Given the description of an element on the screen output the (x, y) to click on. 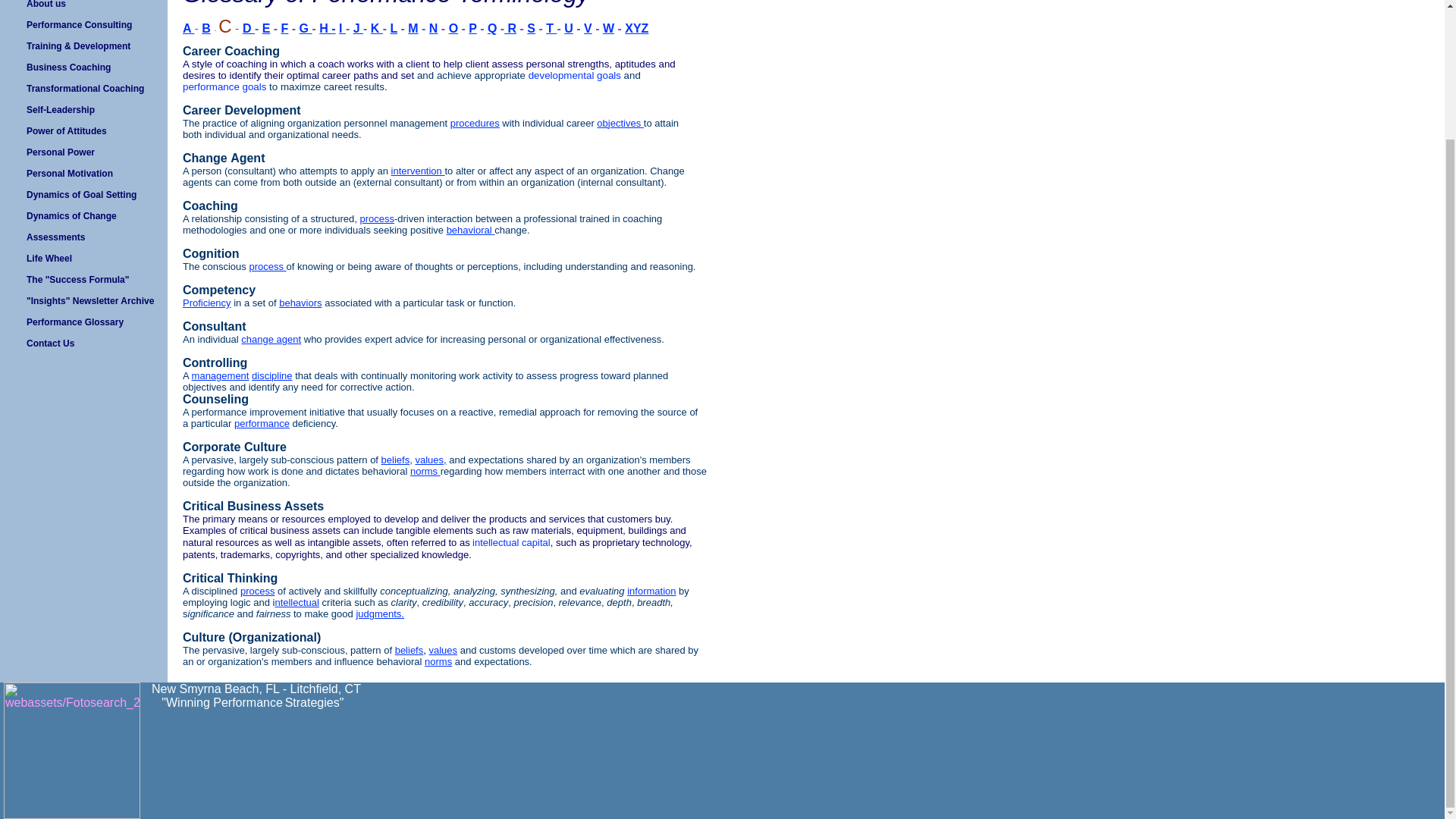
Dynamics of Change (83, 216)
K page (376, 28)
E (266, 29)
Personal Power (83, 152)
A  (188, 29)
K (376, 28)
Self-Leadership (83, 109)
Life Wheel (83, 258)
The "Success Formula" (83, 279)
G  (306, 28)
About us (83, 6)
Dynamics of Goal Setting (83, 194)
Personal Motivation (83, 173)
H - (326, 28)
Performance Glossary (83, 322)
